Given the description of an element on the screen output the (x, y) to click on. 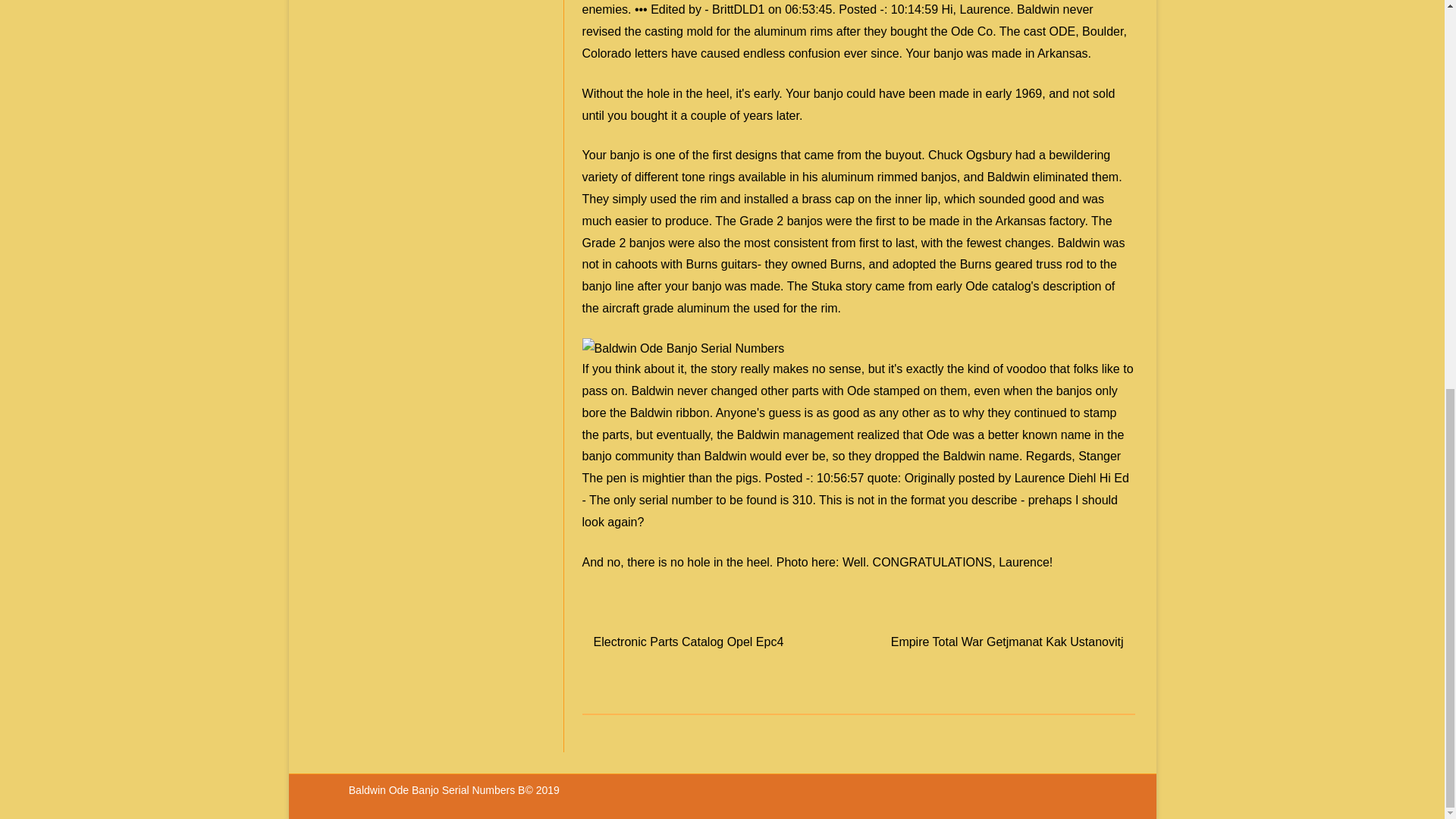
Baldwin Ode Banjo Serial Numbers (433, 789)
Empire Total War Getjmanat Kak Ustanovitj (1007, 641)
Electronic Parts Catalog Opel Epc4 (689, 641)
Baldwin Ode Banjo Serial Numbers (683, 348)
